Given the description of an element on the screen output the (x, y) to click on. 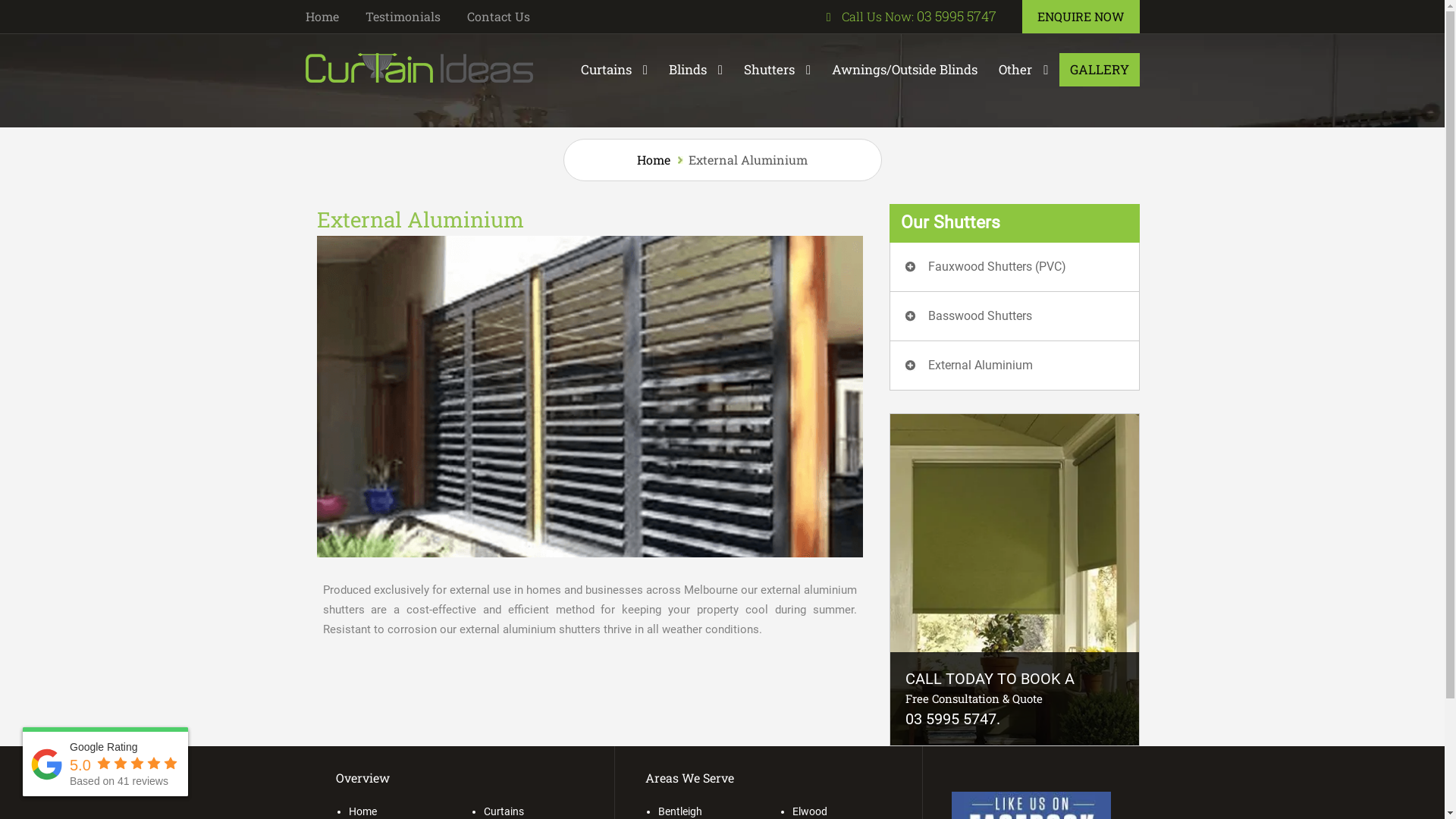
Contact Us Element type: text (498, 16)
Home Element type: text (321, 16)
03 5995 5747 Element type: text (955, 15)
Home Element type: text (653, 159)
Awnings/Outside Blinds Element type: text (904, 69)
ENQUIRE NOW Element type: text (1080, 16)
Basswood Shutters Element type: text (980, 314)
03 5995 5747 Element type: text (950, 718)
Testimonials Element type: text (402, 16)
Curtains Element type: text (614, 69)
Shutters Element type: text (777, 69)
Blinds Element type: text (695, 69)
External Aluminium Element type: text (980, 364)
GALLERY Element type: text (1098, 69)
Other Element type: text (1023, 69)
Fauxwood Shutters (PVC) Element type: text (997, 266)
